Given the description of an element on the screen output the (x, y) to click on. 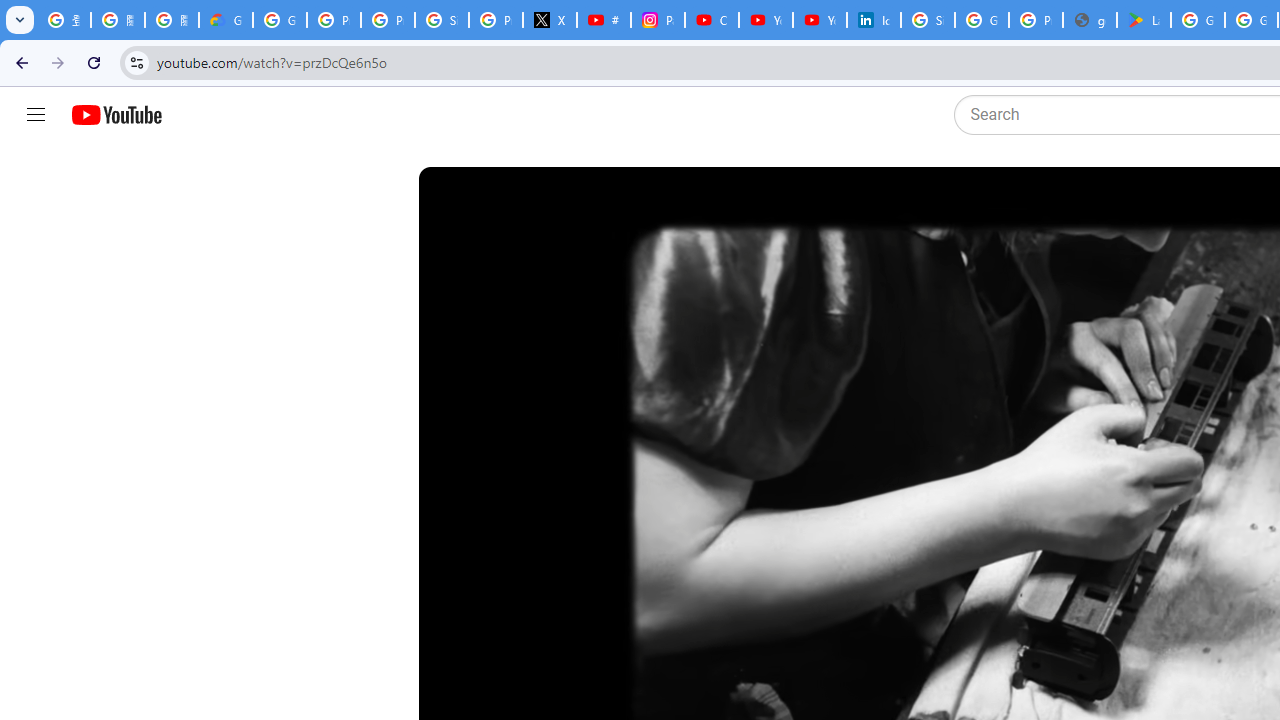
X (550, 20)
YouTube Culture & Trends - YouTube Top 10, 2021 (819, 20)
Privacy Help Center - Policies Help (387, 20)
#nbabasketballhighlights - YouTube (604, 20)
YouTube Home (116, 115)
Google Cloud Privacy Notice (225, 20)
